Given the description of an element on the screen output the (x, y) to click on. 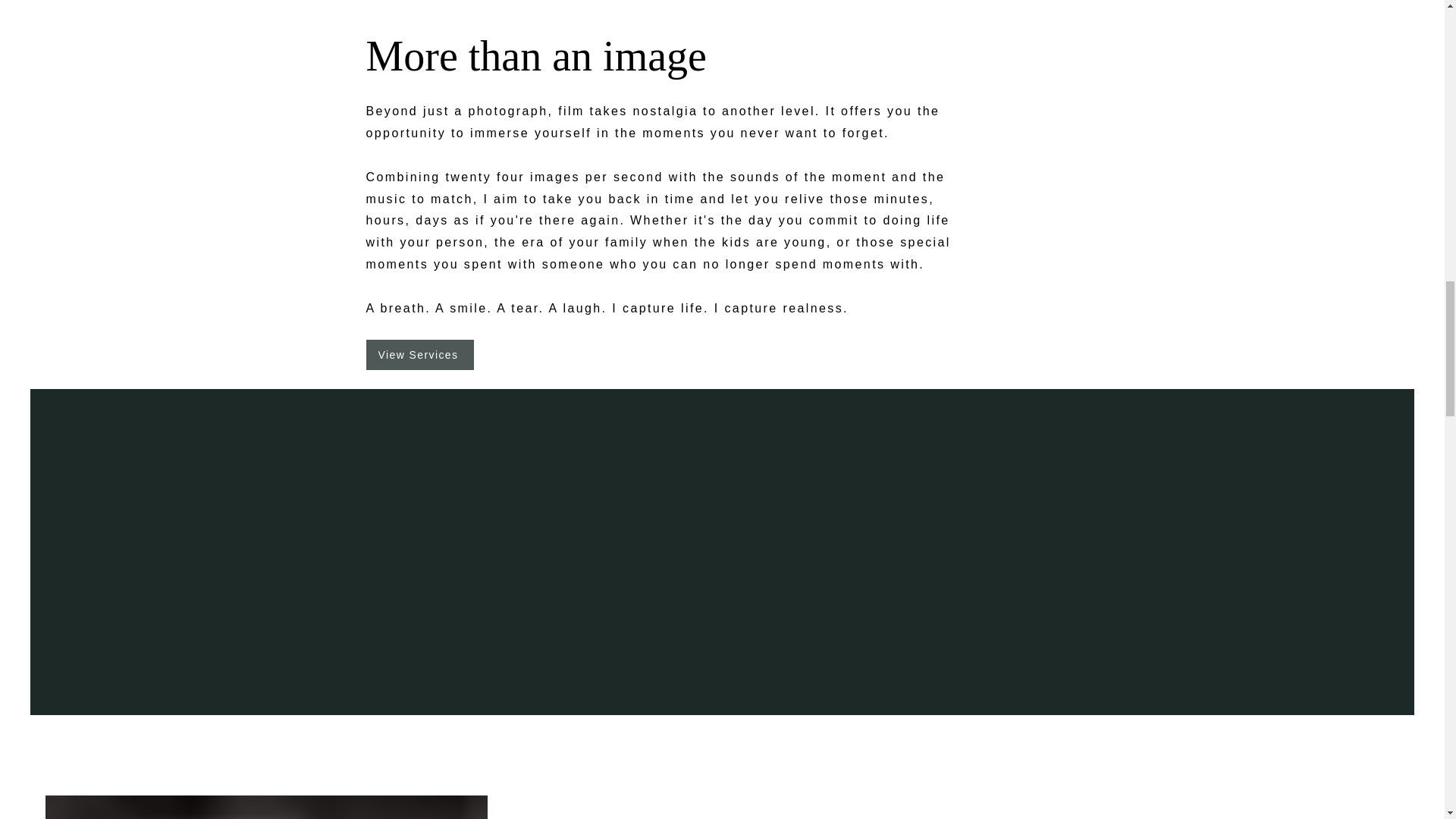
View Services (419, 354)
